Given the description of an element on the screen output the (x, y) to click on. 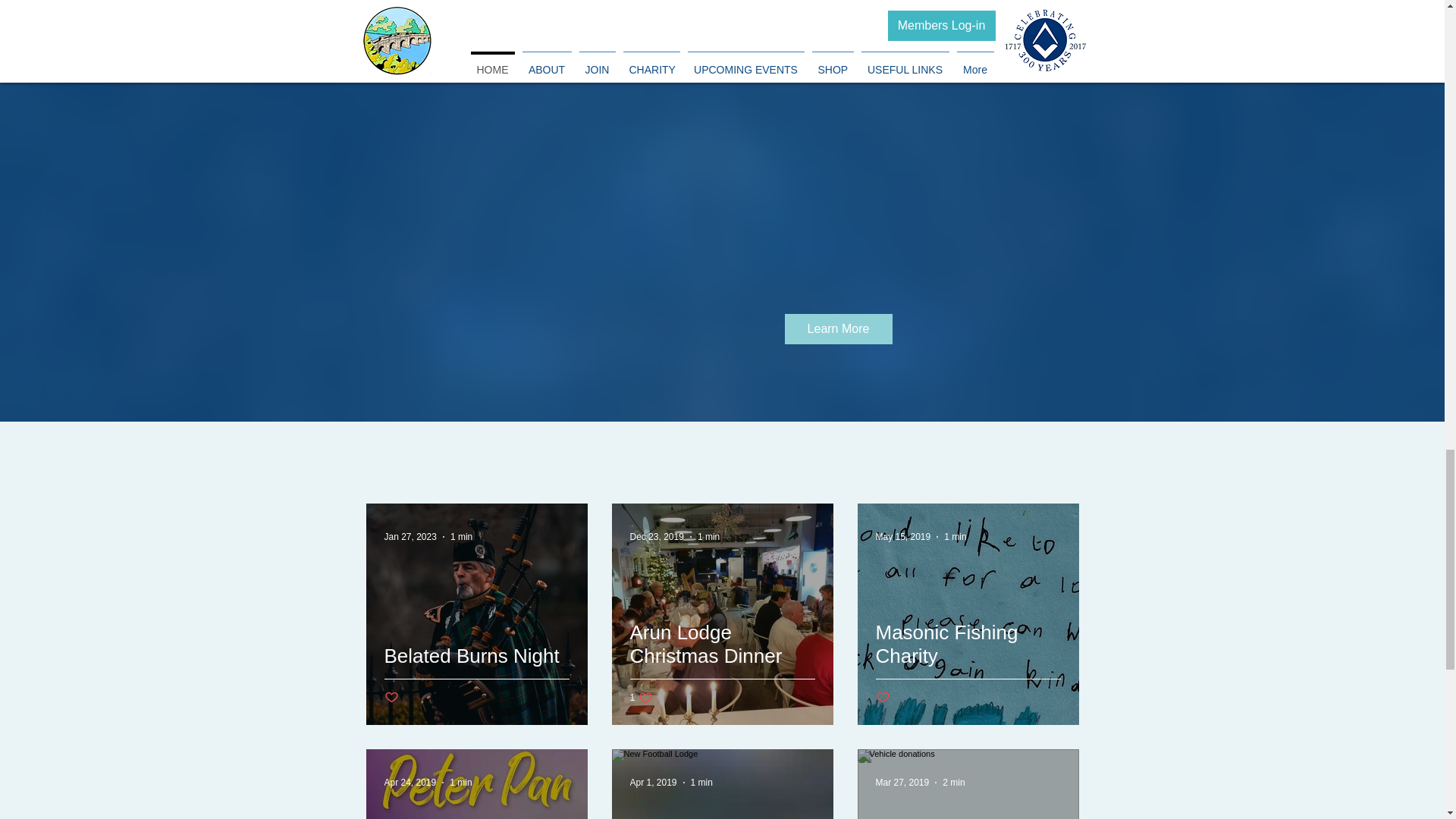
1 min (954, 536)
Learn More (837, 328)
2 min (952, 782)
1 min (460, 536)
Post not marked as liked (390, 697)
Apr 24, 2019 (409, 782)
1 min (460, 782)
Post not marked as liked (640, 697)
Apr 1, 2019 (882, 697)
Jan 27, 2023 (652, 782)
1 min (409, 536)
Dec 23, 2019 (701, 782)
Belated Burns Night (655, 536)
1 min (476, 673)
